Given the description of an element on the screen output the (x, y) to click on. 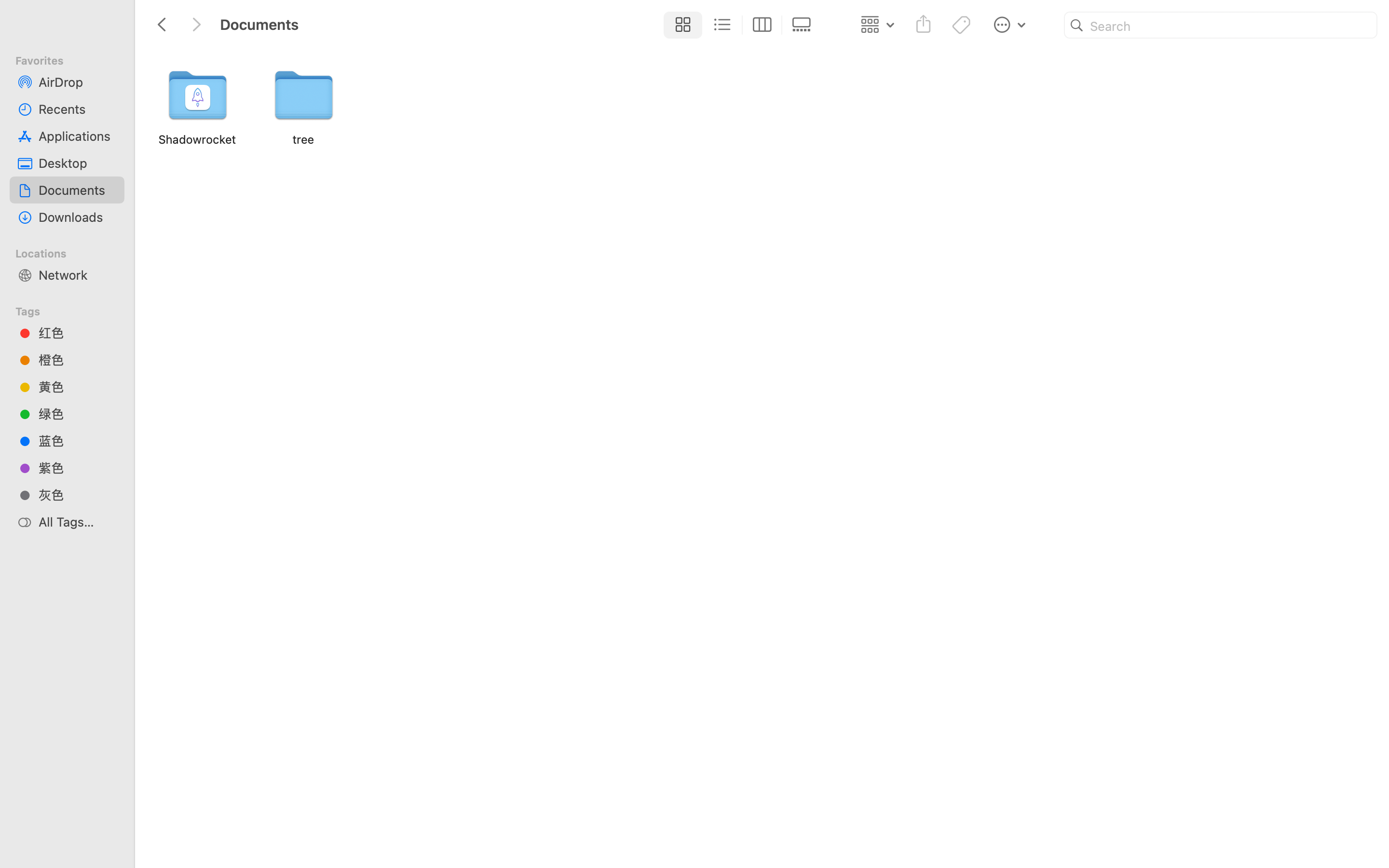
All Tags… Element type: AXStaticText (77, 521)
蓝色 Element type: AXStaticText (77, 440)
Downloads Element type: AXStaticText (77, 216)
绿色 Element type: AXStaticText (77, 413)
Desktop Element type: AXStaticText (77, 162)
